Given the description of an element on the screen output the (x, y) to click on. 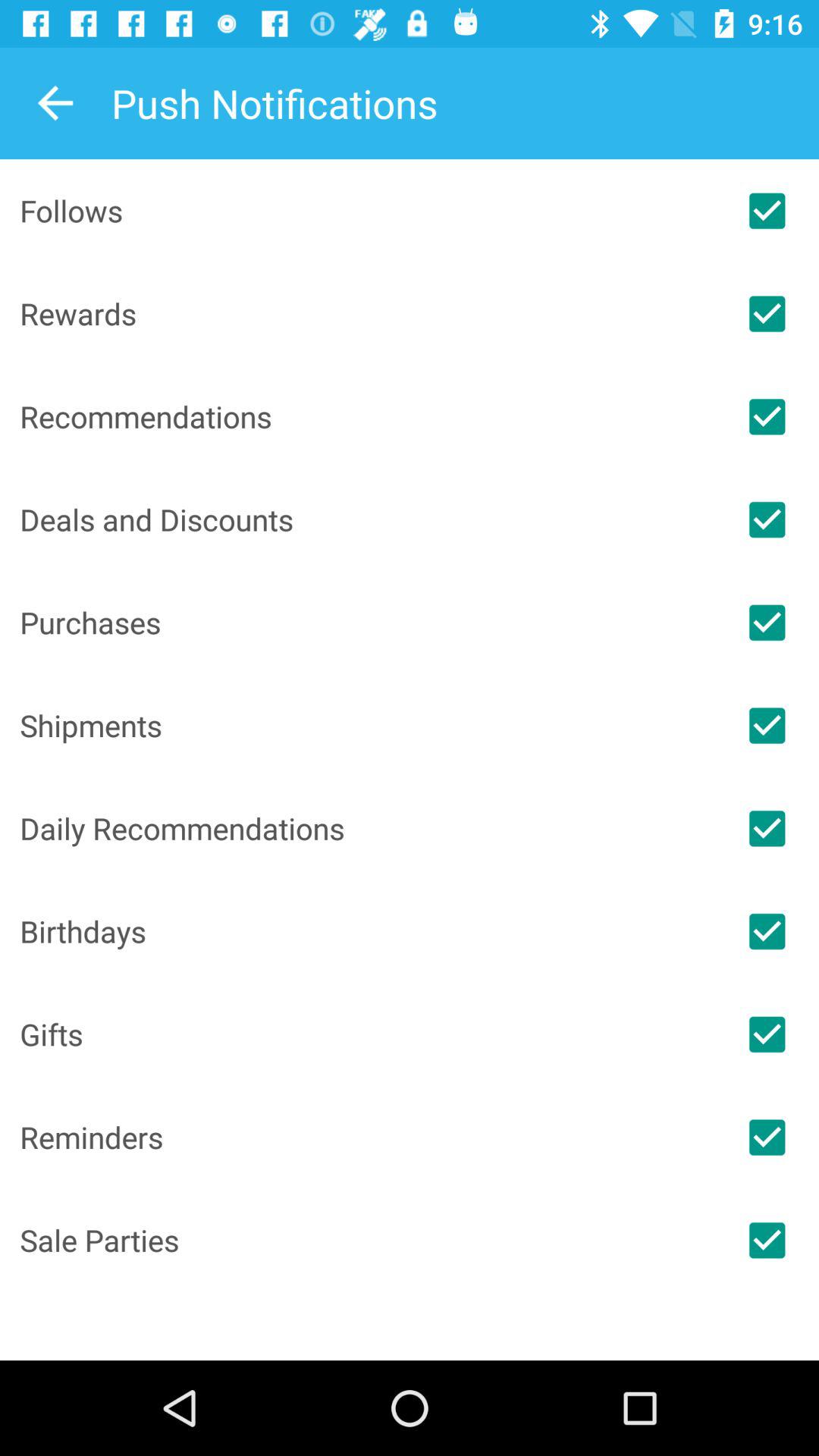
select or unselect this item (767, 1034)
